Given the description of an element on the screen output the (x, y) to click on. 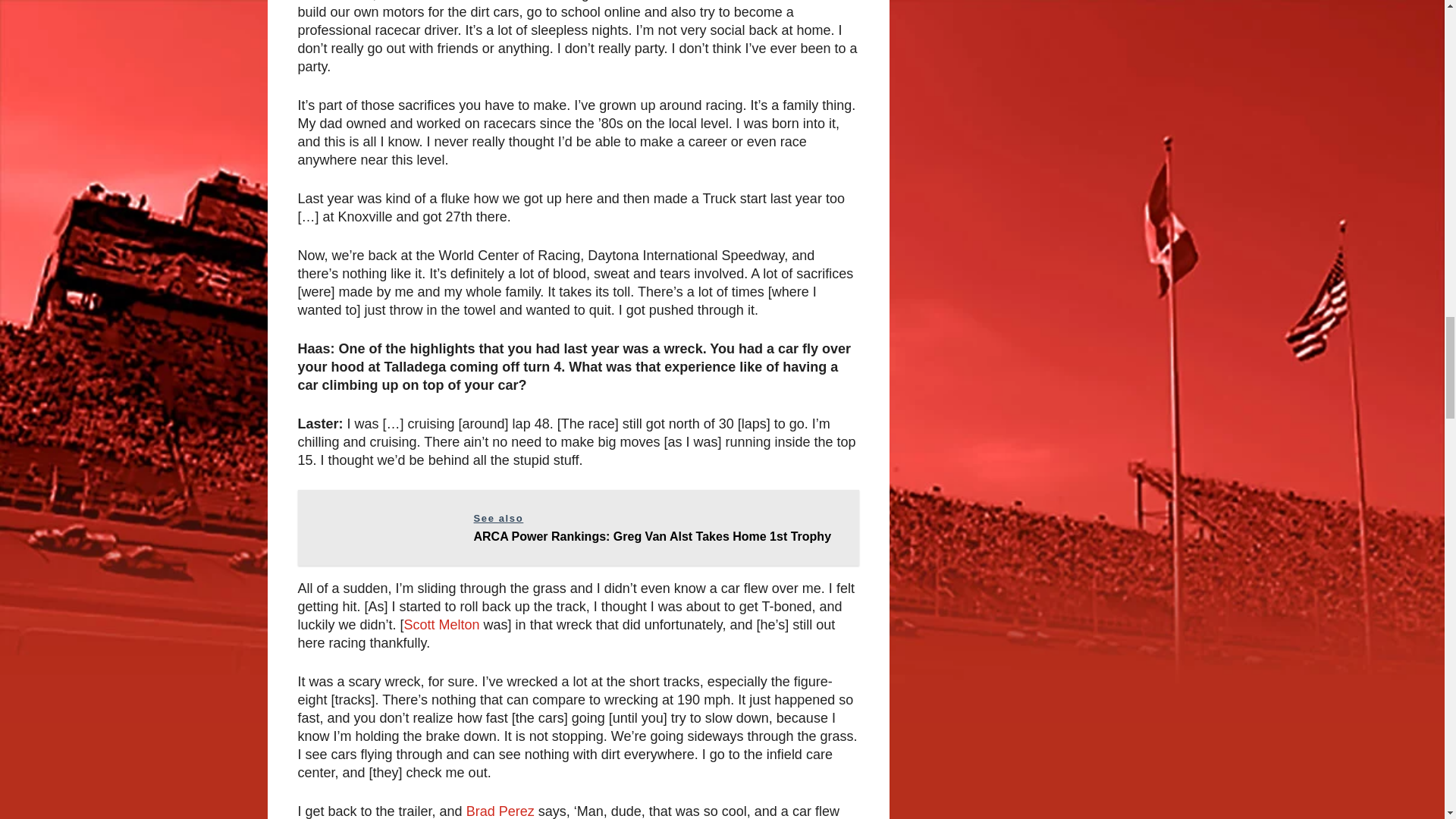
Scott Melton (442, 624)
Brad Perez (499, 811)
